Given the description of an element on the screen output the (x, y) to click on. 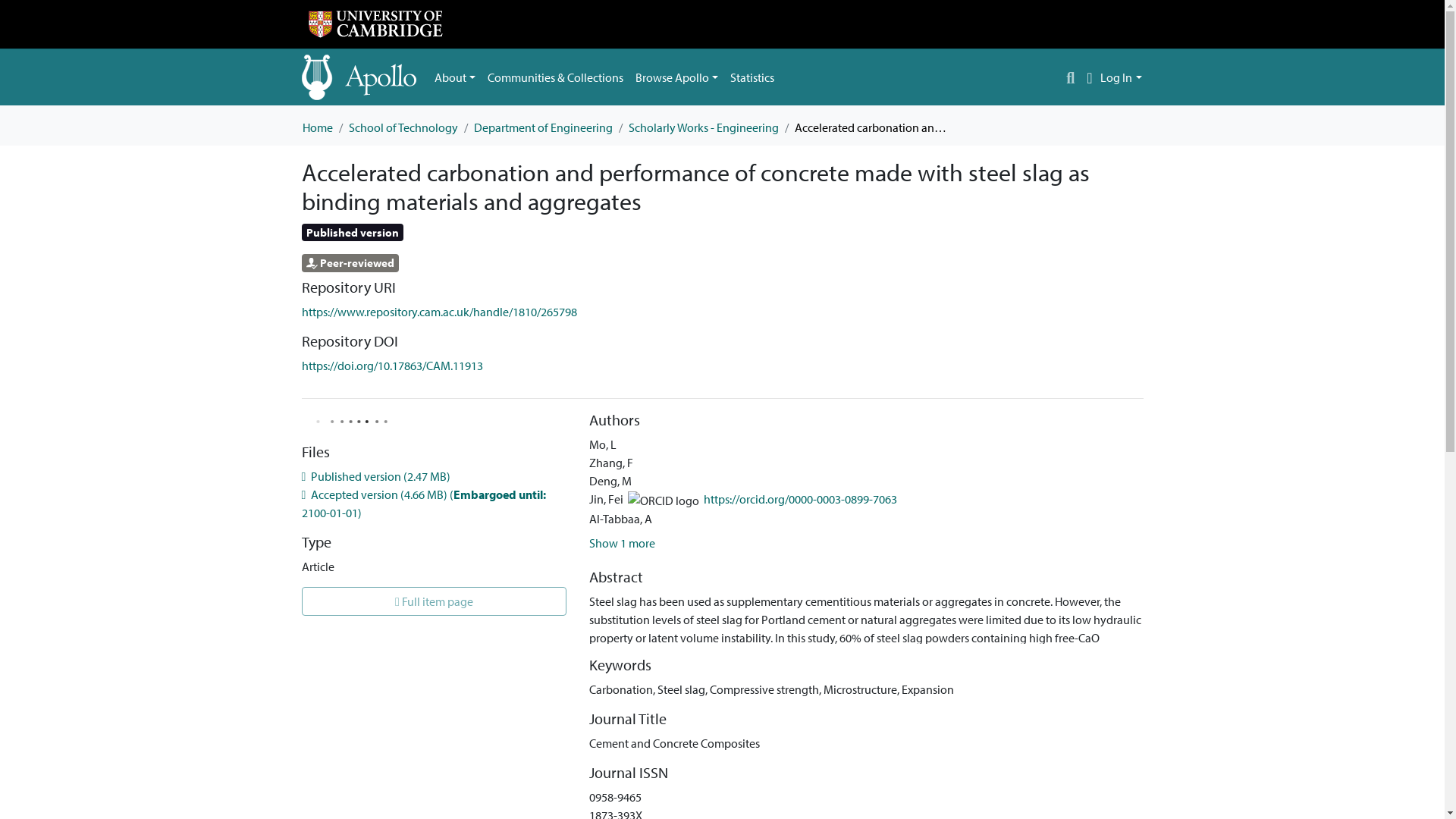
Statistics (751, 77)
School of Technology (403, 126)
Scholarly Works - Engineering (702, 126)
Log In (1120, 77)
Show 1 more (622, 542)
About (454, 77)
Browse Apollo (675, 77)
Statistics (751, 77)
Search (1070, 76)
Language switch (1089, 76)
